Given the description of an element on the screen output the (x, y) to click on. 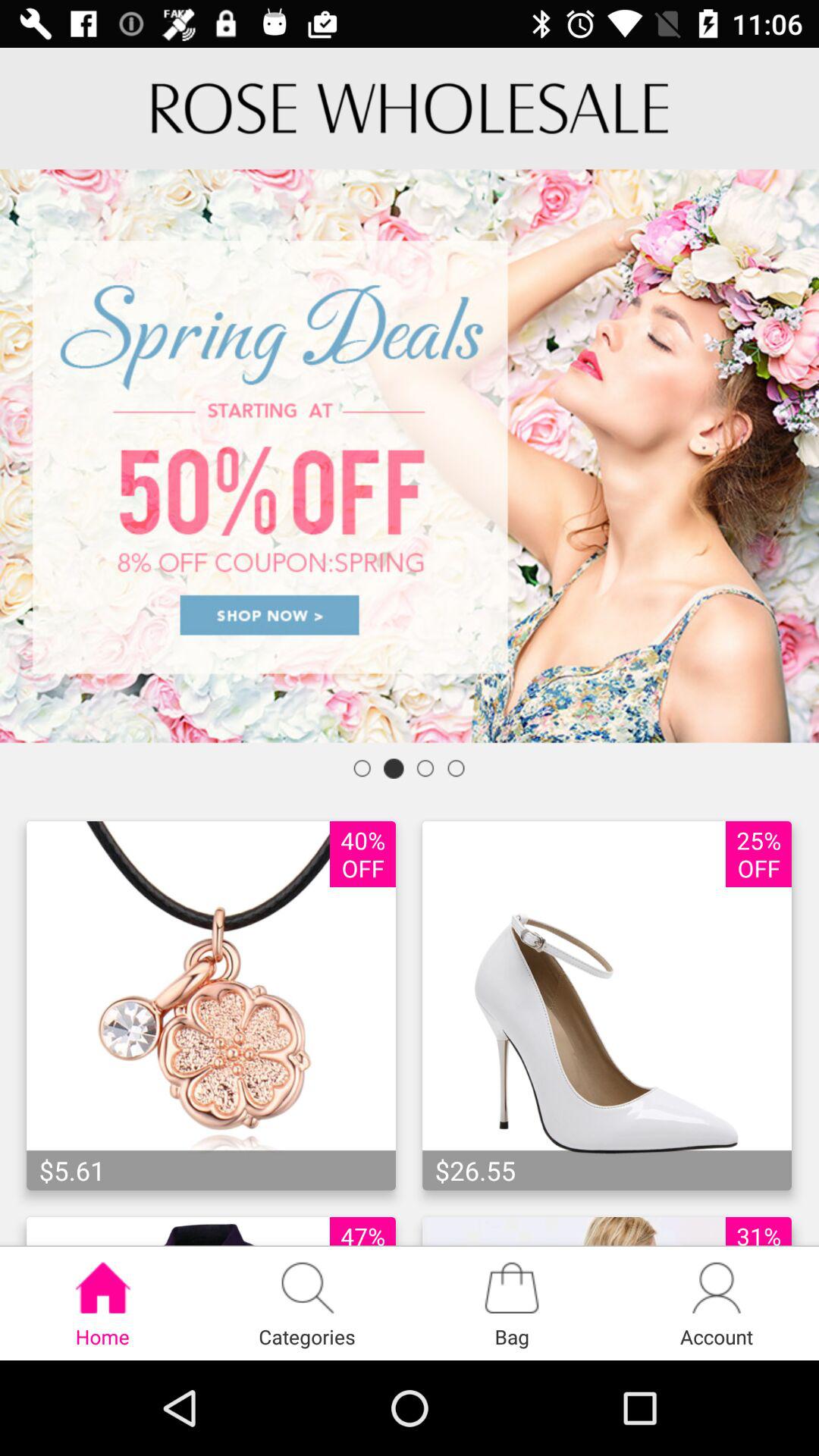
select first image (210, 1006)
select bag with its symbol (511, 1302)
select second option at bottom left (306, 1302)
select the image which is left to the shoe image (210, 1006)
